Given the description of an element on the screen output the (x, y) to click on. 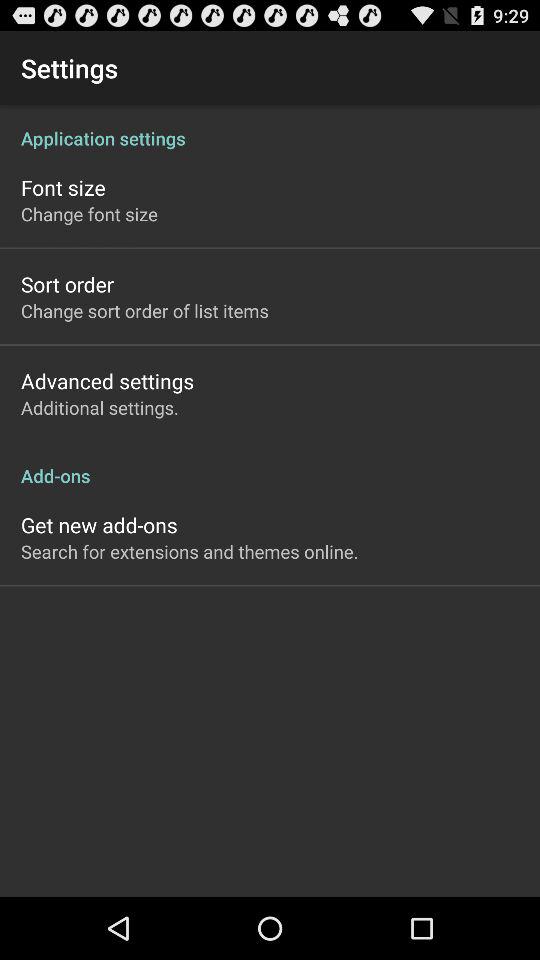
select item above the additional settings. icon (107, 380)
